Given the description of an element on the screen output the (x, y) to click on. 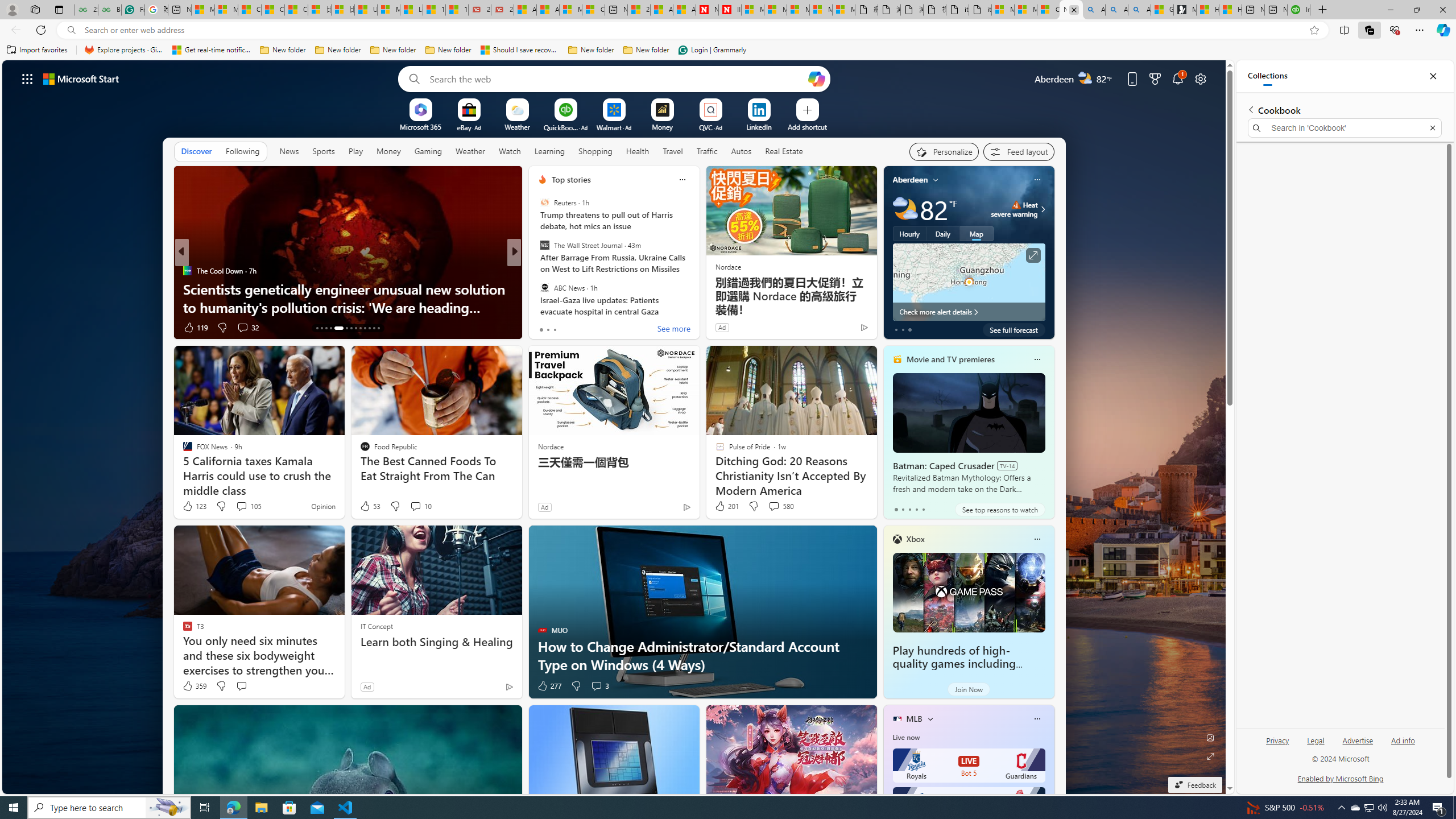
Check more alert details (968, 311)
Login | Grammarly (712, 49)
Search icon (70, 29)
123 Like (193, 505)
244 Like (545, 327)
